Given the description of an element on the screen output the (x, y) to click on. 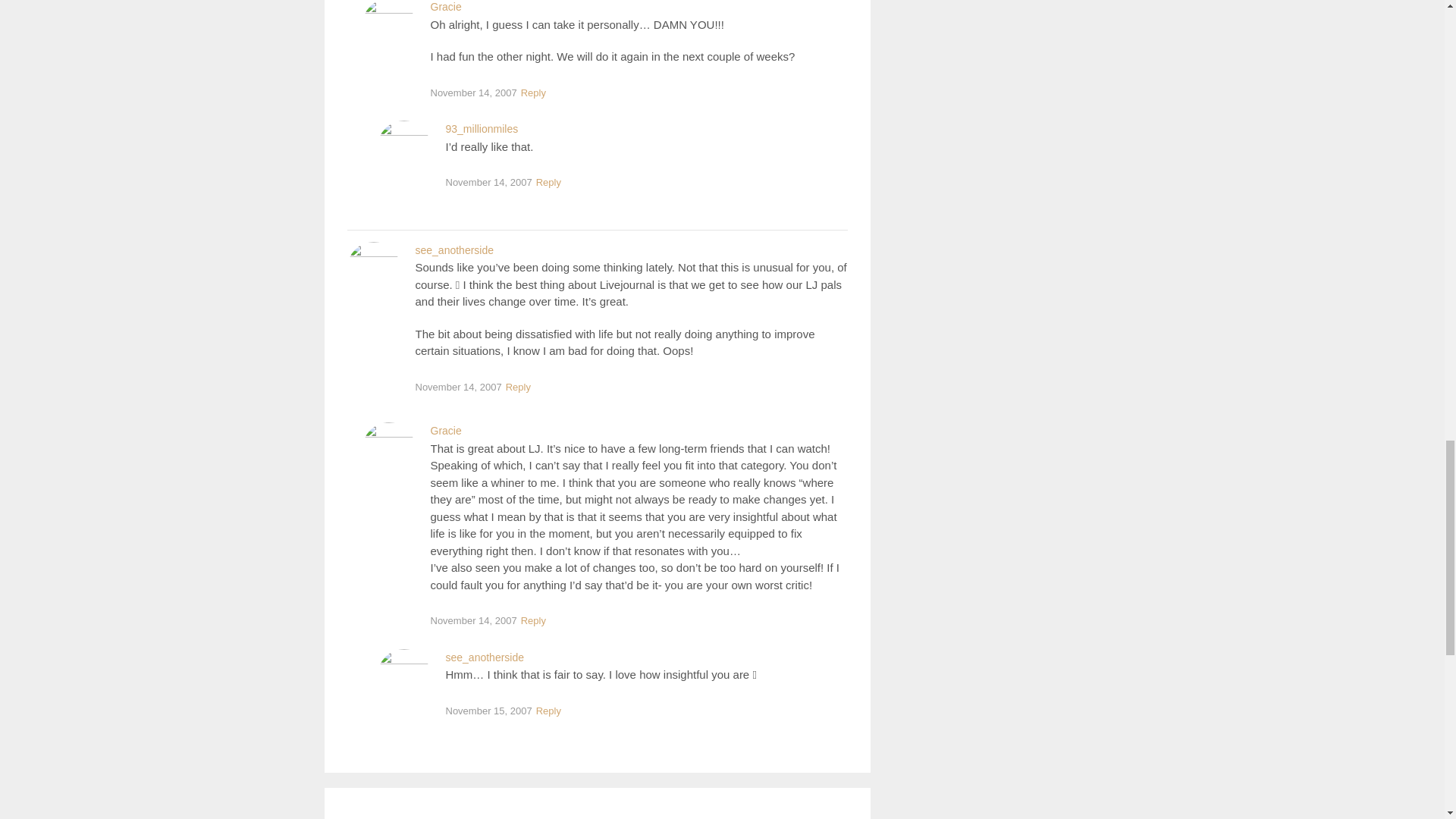
Reply (548, 182)
Gracie (445, 430)
Reply (548, 711)
Reply (533, 620)
Gracie (445, 6)
Reply (533, 93)
Reply (518, 387)
